Given the description of an element on the screen output the (x, y) to click on. 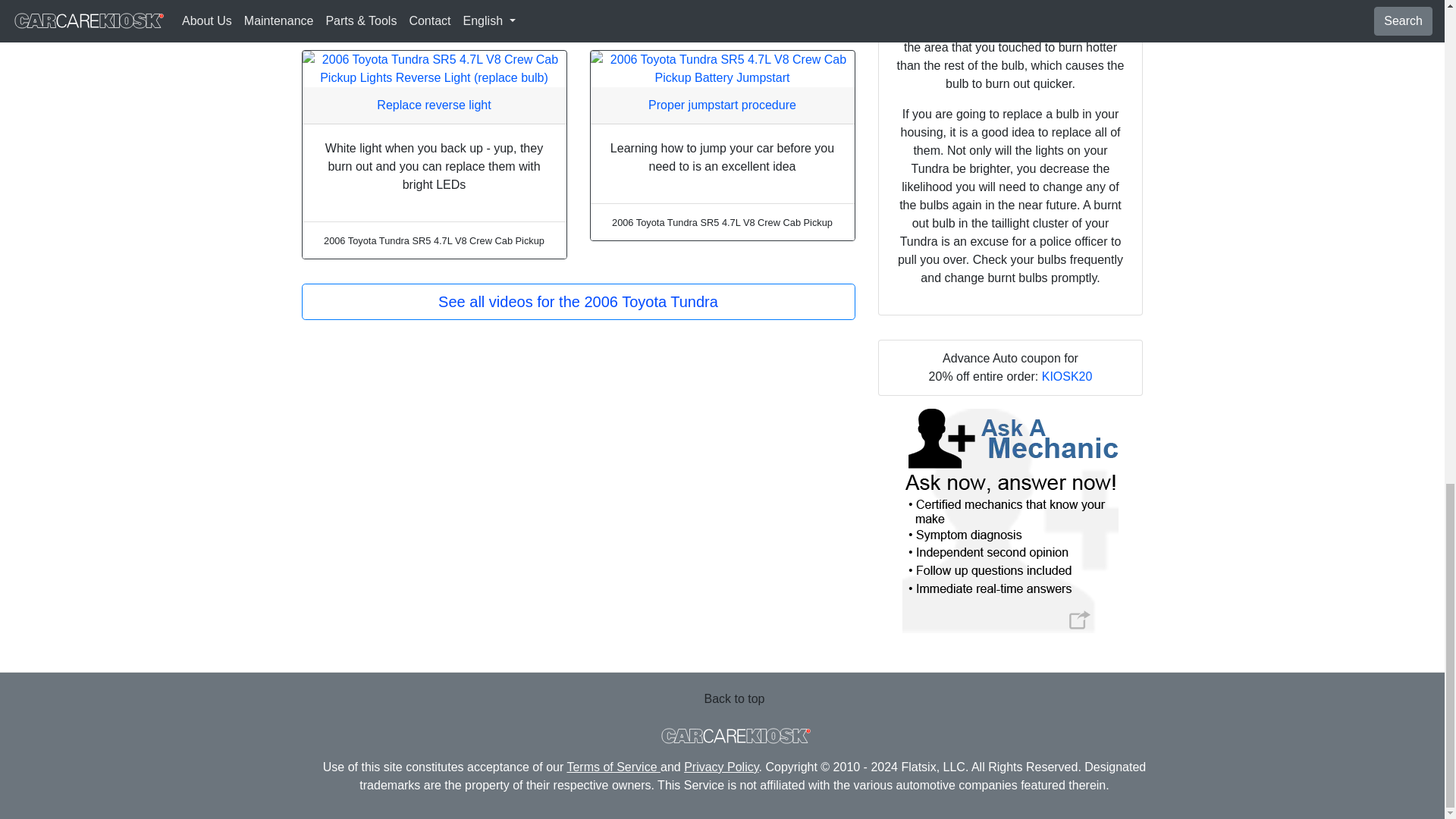
See all videos for the 2006 Toyota Tundra (578, 301)
Replace reverse light (433, 104)
Proper jumpstart procedure (721, 104)
